Given the description of an element on the screen output the (x, y) to click on. 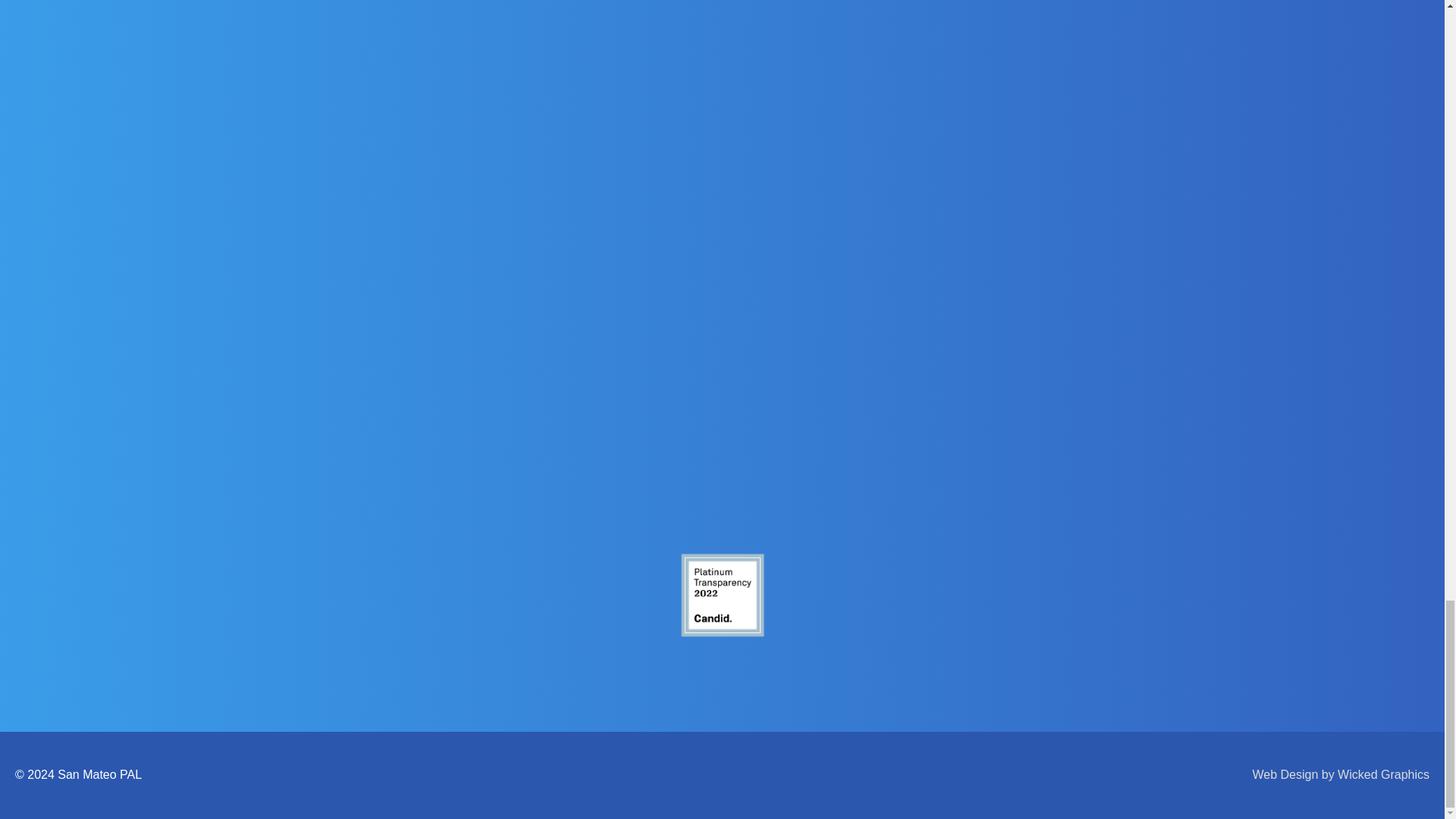
guidestar platinum transparency (722, 594)
